Given the description of an element on the screen output the (x, y) to click on. 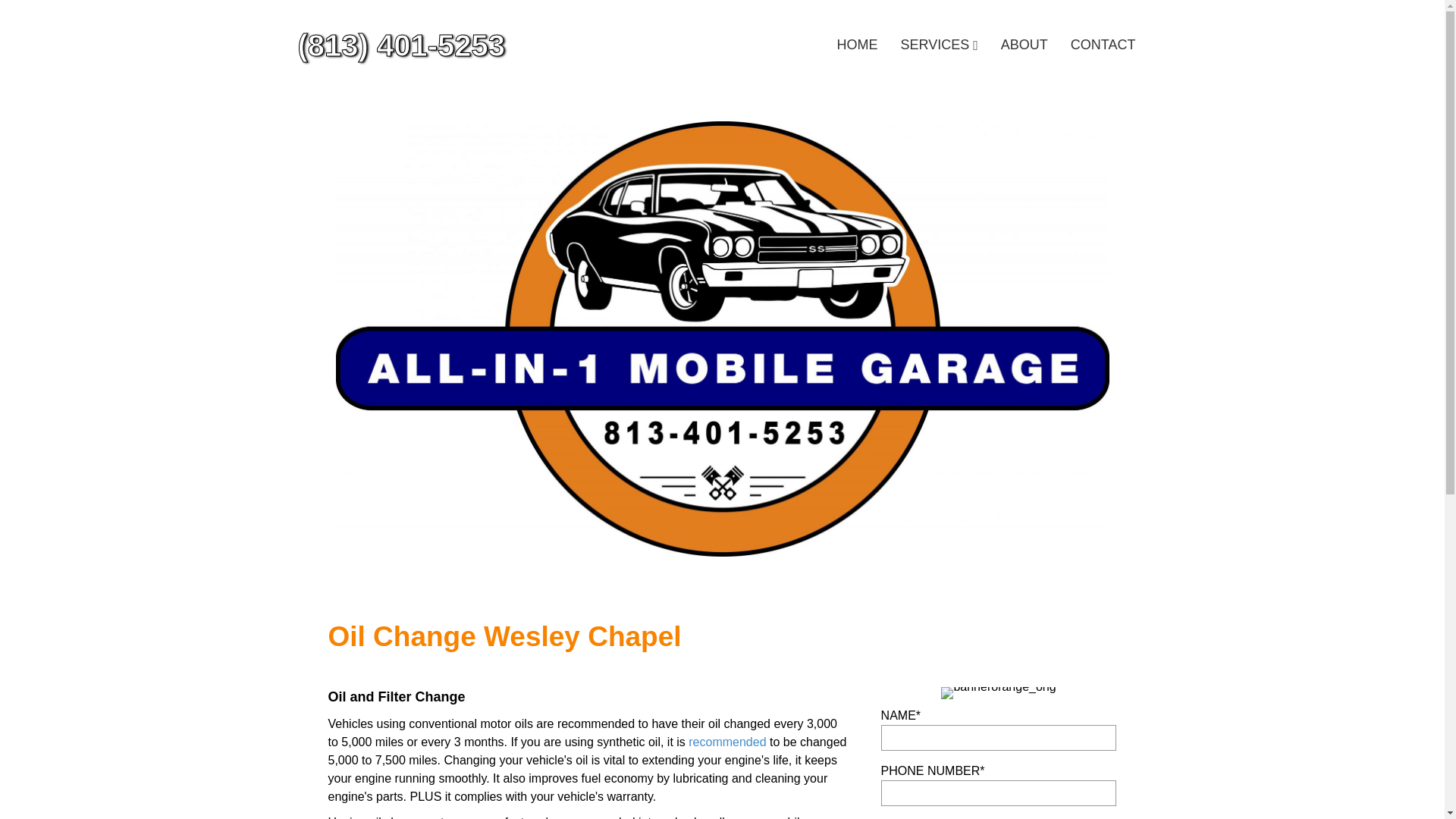
HOME (857, 45)
SERVICES (939, 45)
CONTACT (1103, 45)
recommended (726, 741)
ABOUT (1024, 45)
